Given the description of an element on the screen output the (x, y) to click on. 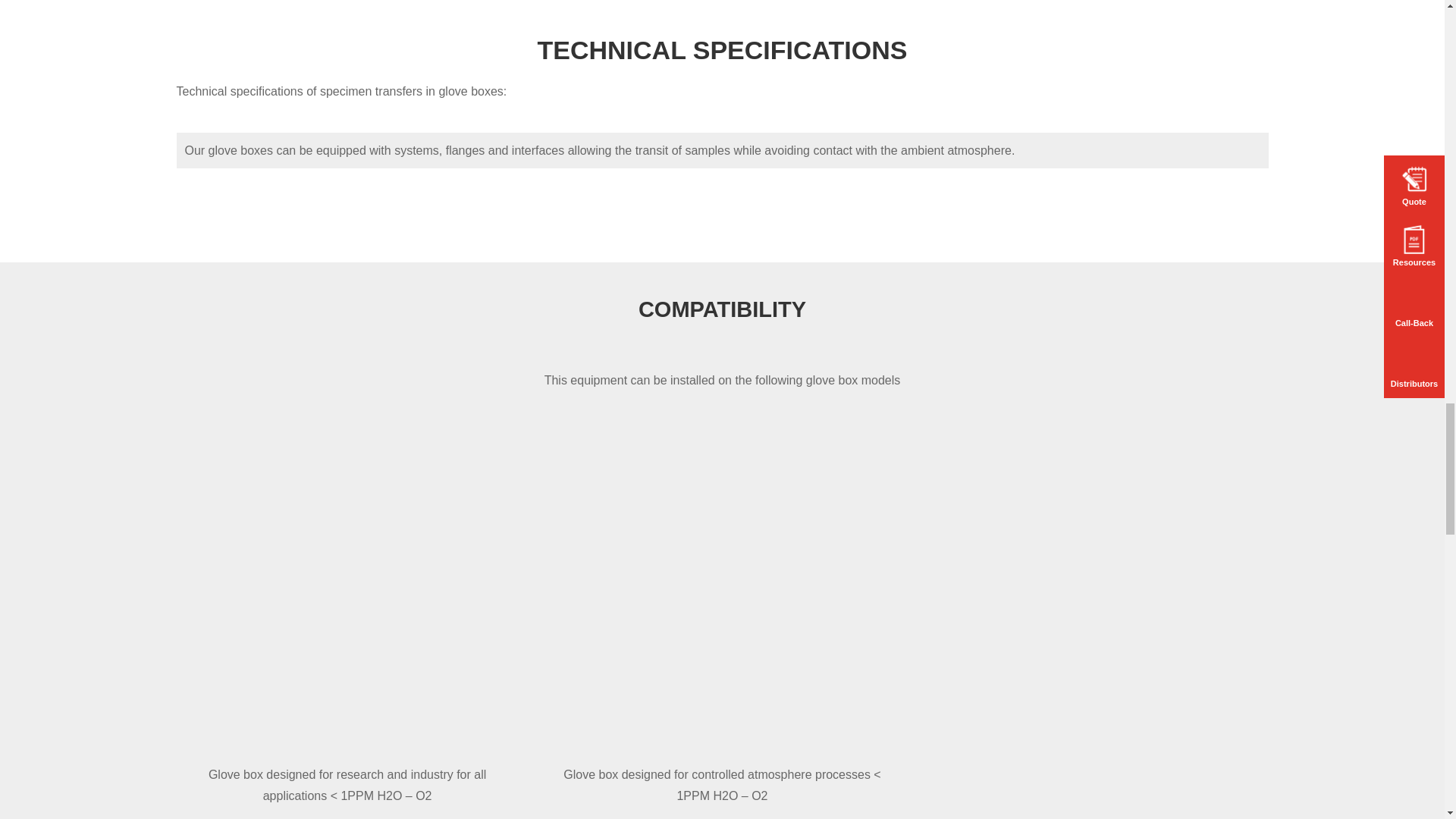
icon-bag-pureevo (346, 460)
jacomex-boite-gants-puremod (722, 619)
jacomex-boite-gants-pureevo (347, 619)
icon-bag-puremod (722, 460)
